Given the description of an element on the screen output the (x, y) to click on. 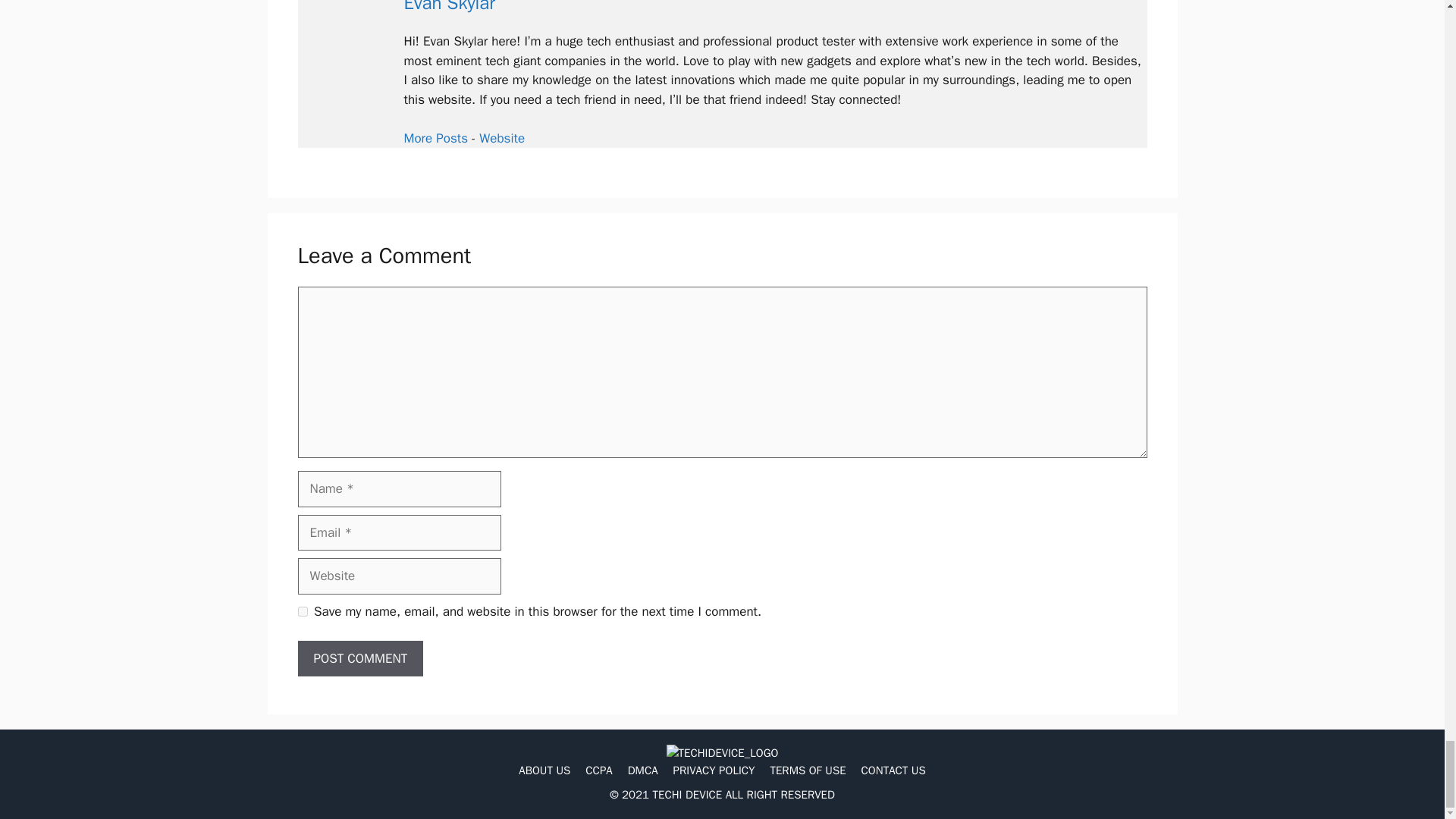
Evan Skylar (501, 138)
yes (302, 611)
Evan Skylar (449, 7)
Post Comment (360, 658)
More posts by Evan Skylar (435, 138)
